Given the description of an element on the screen output the (x, y) to click on. 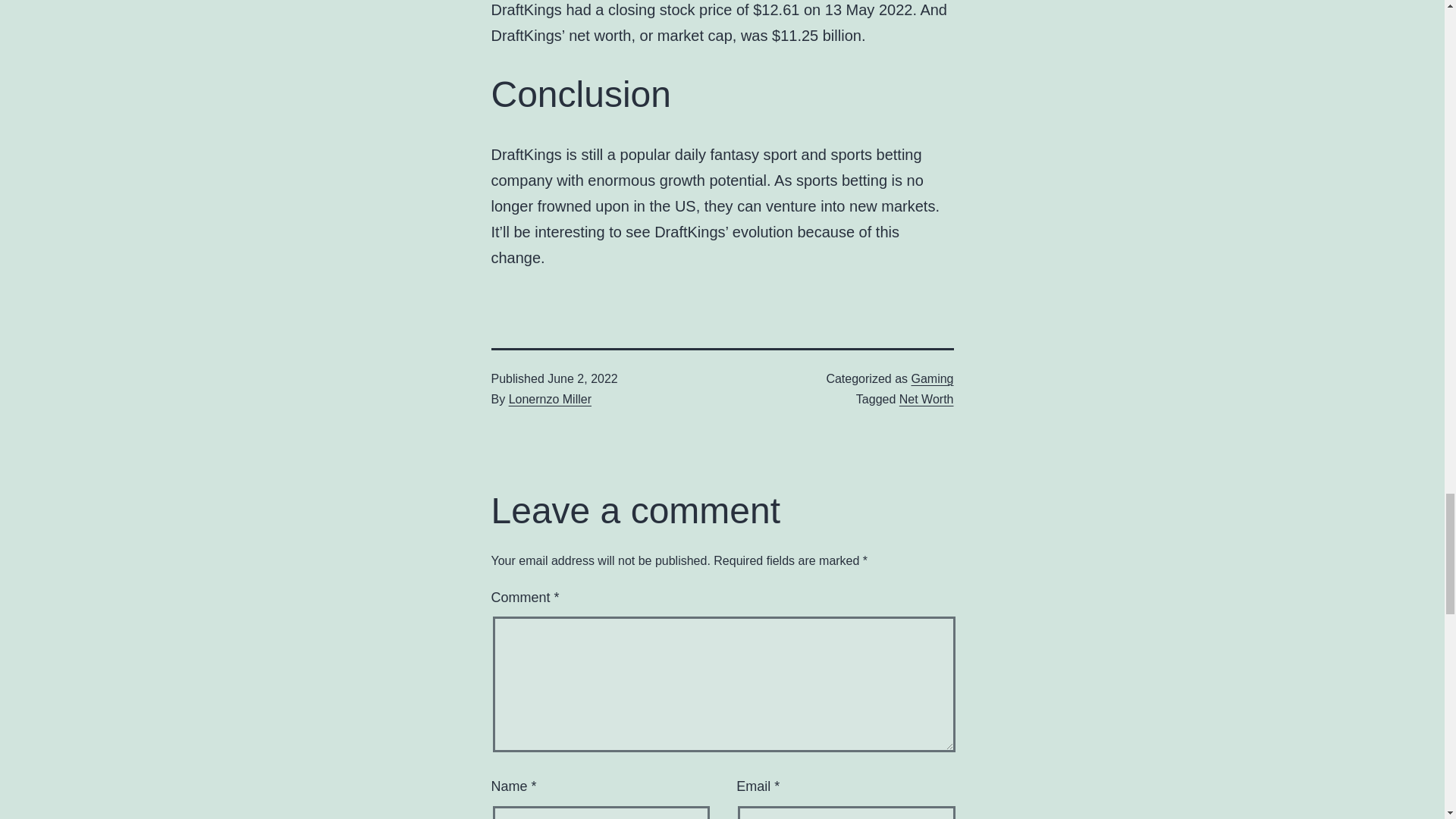
Lonernzo Miller (549, 399)
Net Worth (926, 399)
Gaming (932, 378)
